Given the description of an element on the screen output the (x, y) to click on. 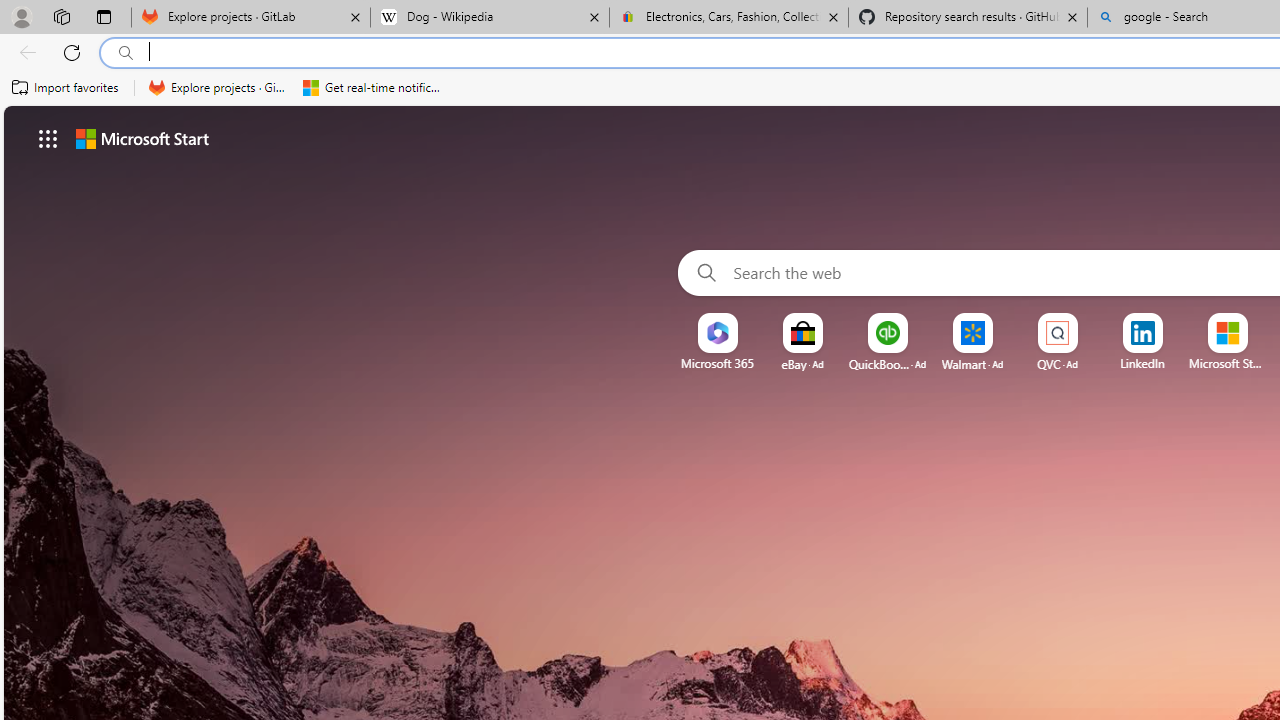
Dog - Wikipedia (490, 17)
